Given the description of an element on the screen output the (x, y) to click on. 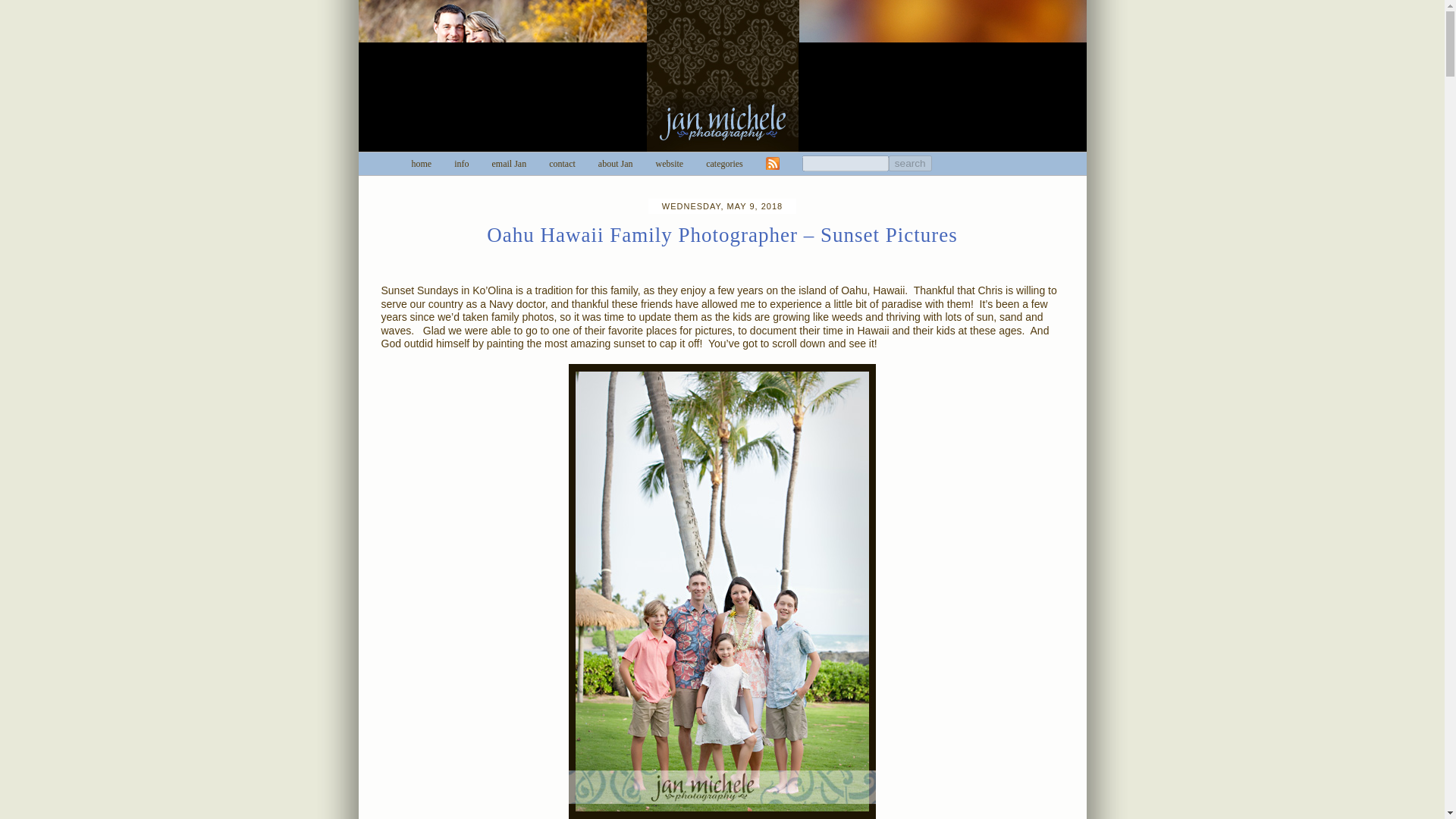
contact (561, 163)
email Jan (509, 163)
info (461, 163)
website (668, 163)
jan michele photography (721, 77)
search (909, 163)
categories (724, 163)
jan michele photography (420, 163)
about Jan (615, 163)
home (420, 163)
